Given the description of an element on the screen output the (x, y) to click on. 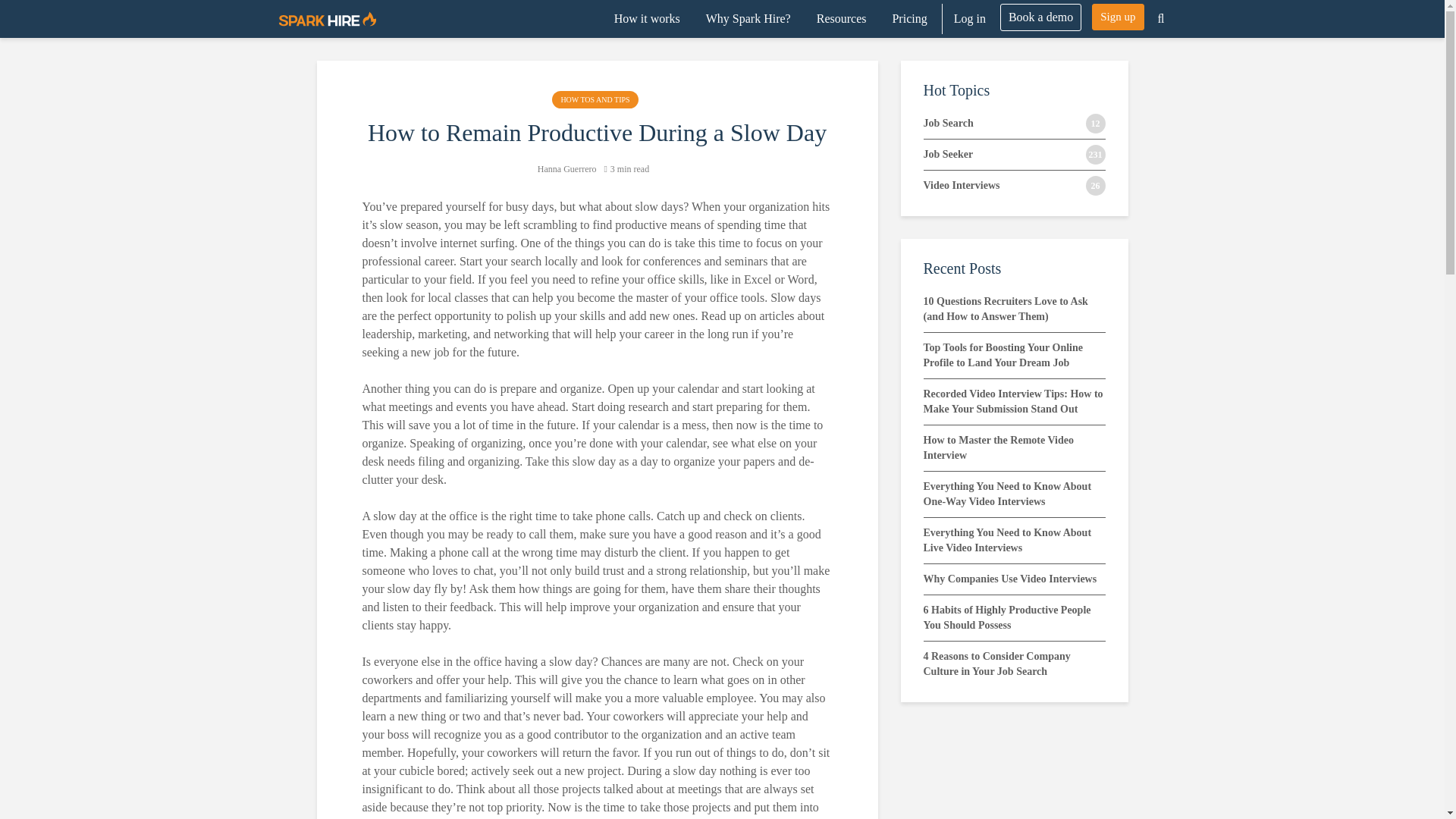
Sign up (1117, 16)
Log in (969, 19)
Hanna Guerrero (566, 168)
Book a demo (1041, 17)
How it works (646, 19)
Resources (841, 19)
Why Spark Hire? (748, 19)
Pricing (908, 19)
HOW TOS AND TIPS (594, 99)
